Given the description of an element on the screen output the (x, y) to click on. 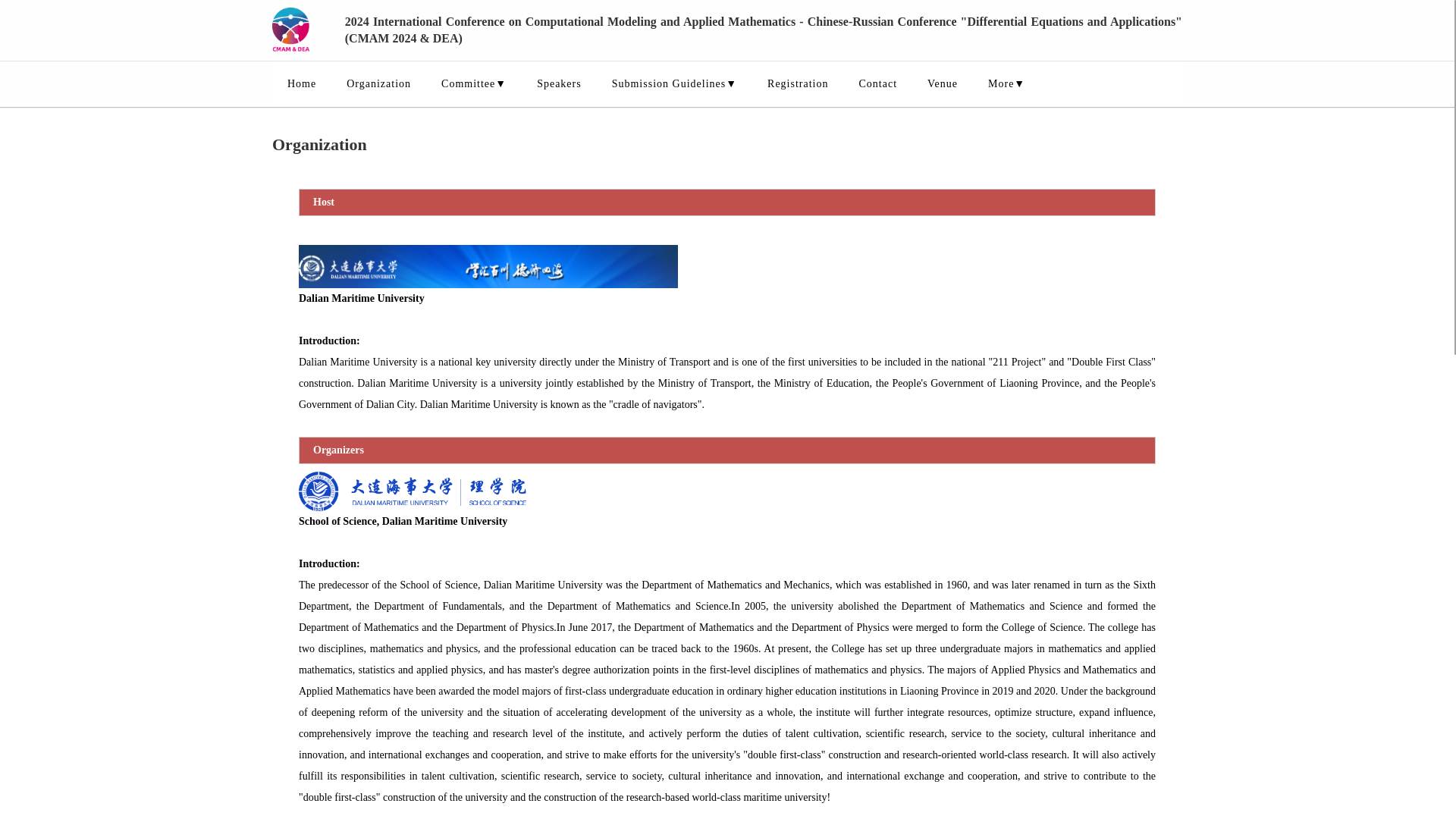
Registration (797, 84)
Venue (942, 84)
Speakers (558, 84)
Contact (877, 84)
Home (301, 84)
Organization (378, 84)
